Given the description of an element on the screen output the (x, y) to click on. 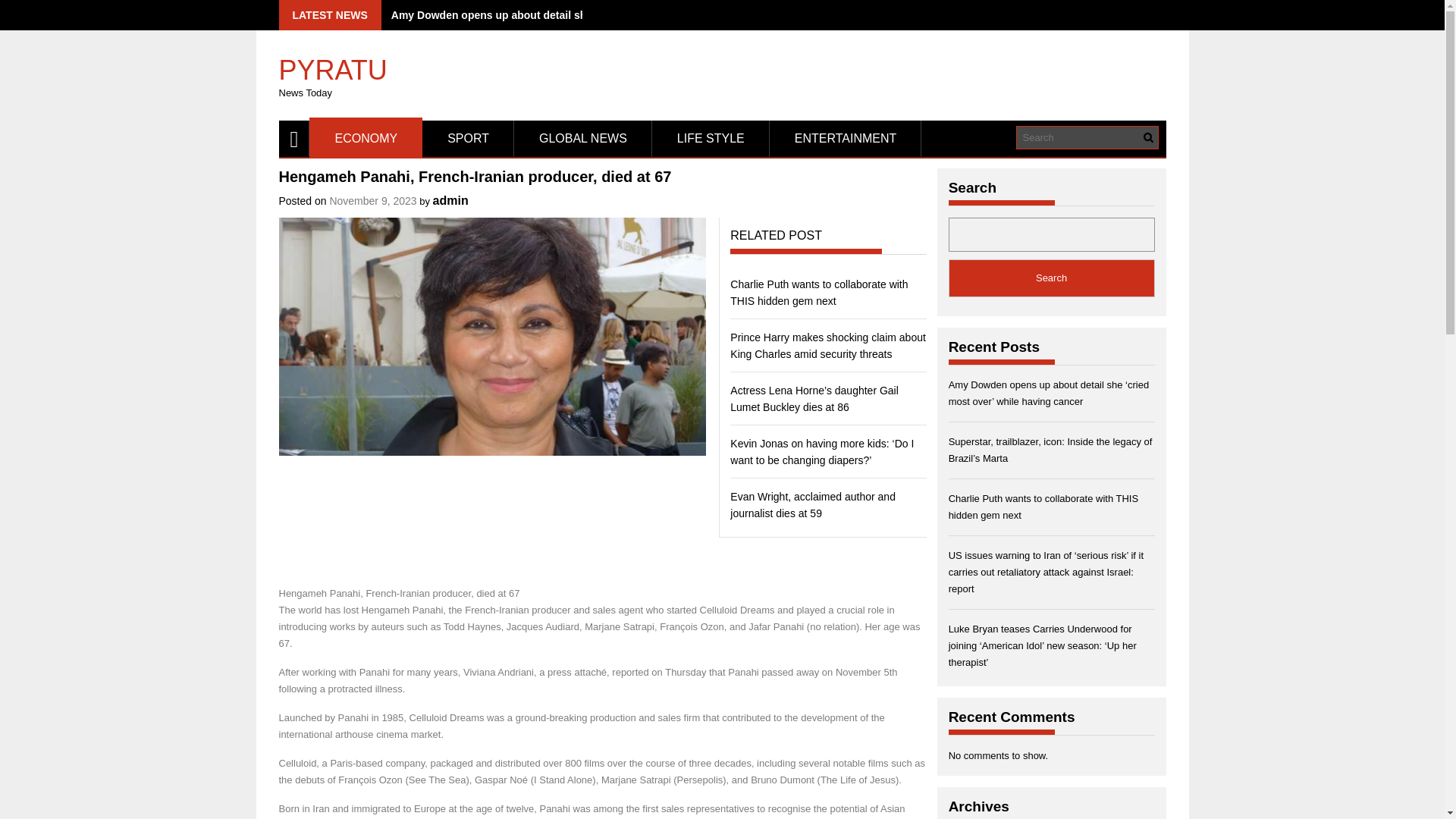
SPORT (467, 138)
November 9, 2023 (372, 200)
PYRATU (333, 62)
LIFE STYLE (711, 138)
ECONOMY (365, 138)
GLOBAL NEWS (582, 138)
Evan Wright, acclaimed author and journalist dies at 59 (812, 504)
Charlie Puth wants to collaborate with THIS hidden gem next (818, 292)
Charlie Puth wants to collaborate with THIS hidden gem next (818, 292)
